Given the description of an element on the screen output the (x, y) to click on. 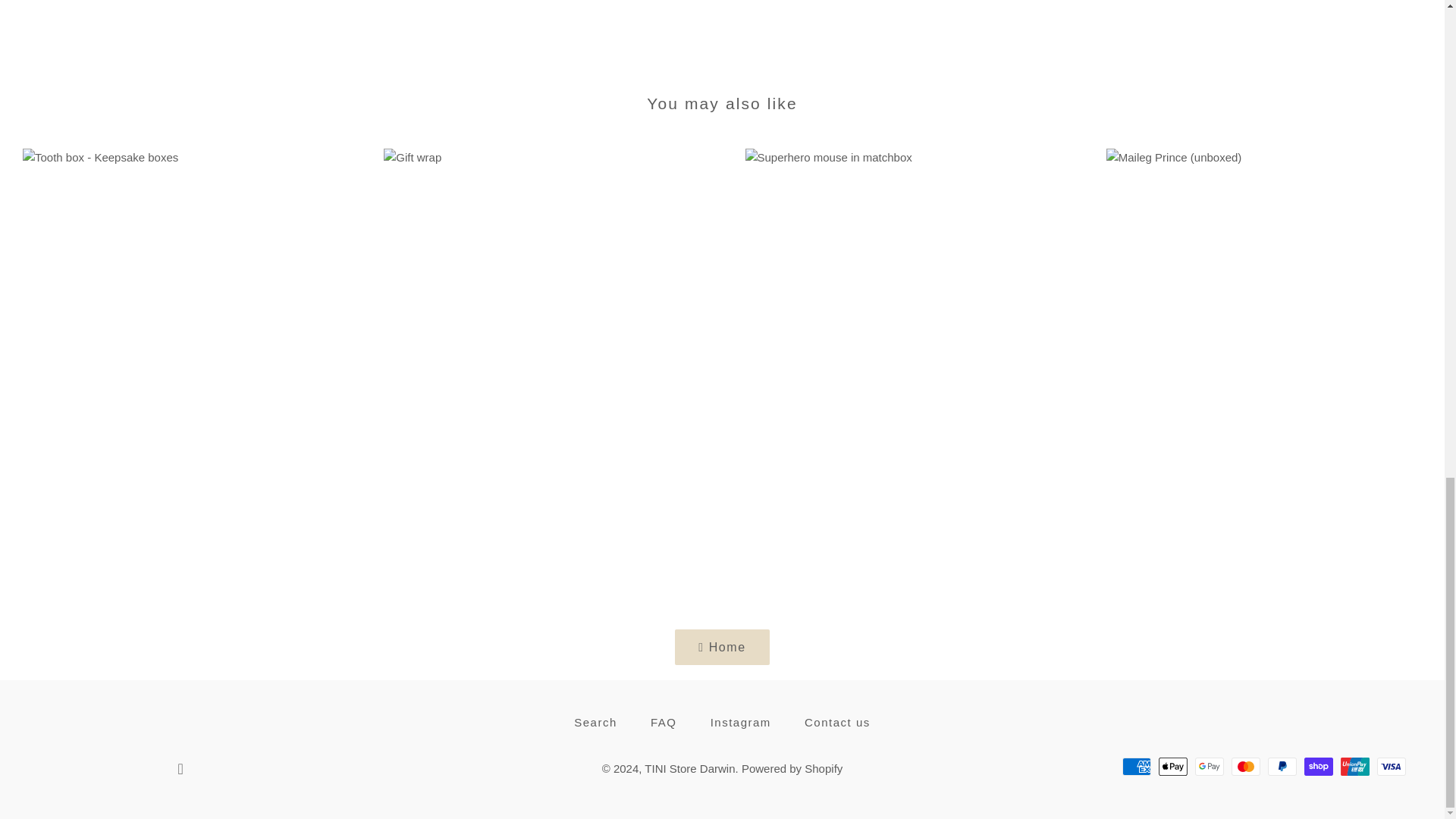
American Express (1136, 766)
Apple Pay (1173, 766)
Mastercard (1245, 766)
Google Pay (1209, 766)
Shop Pay (1318, 766)
Union Pay (1355, 766)
Visa (1391, 766)
PayPal (1282, 766)
